Given the description of an element on the screen output the (x, y) to click on. 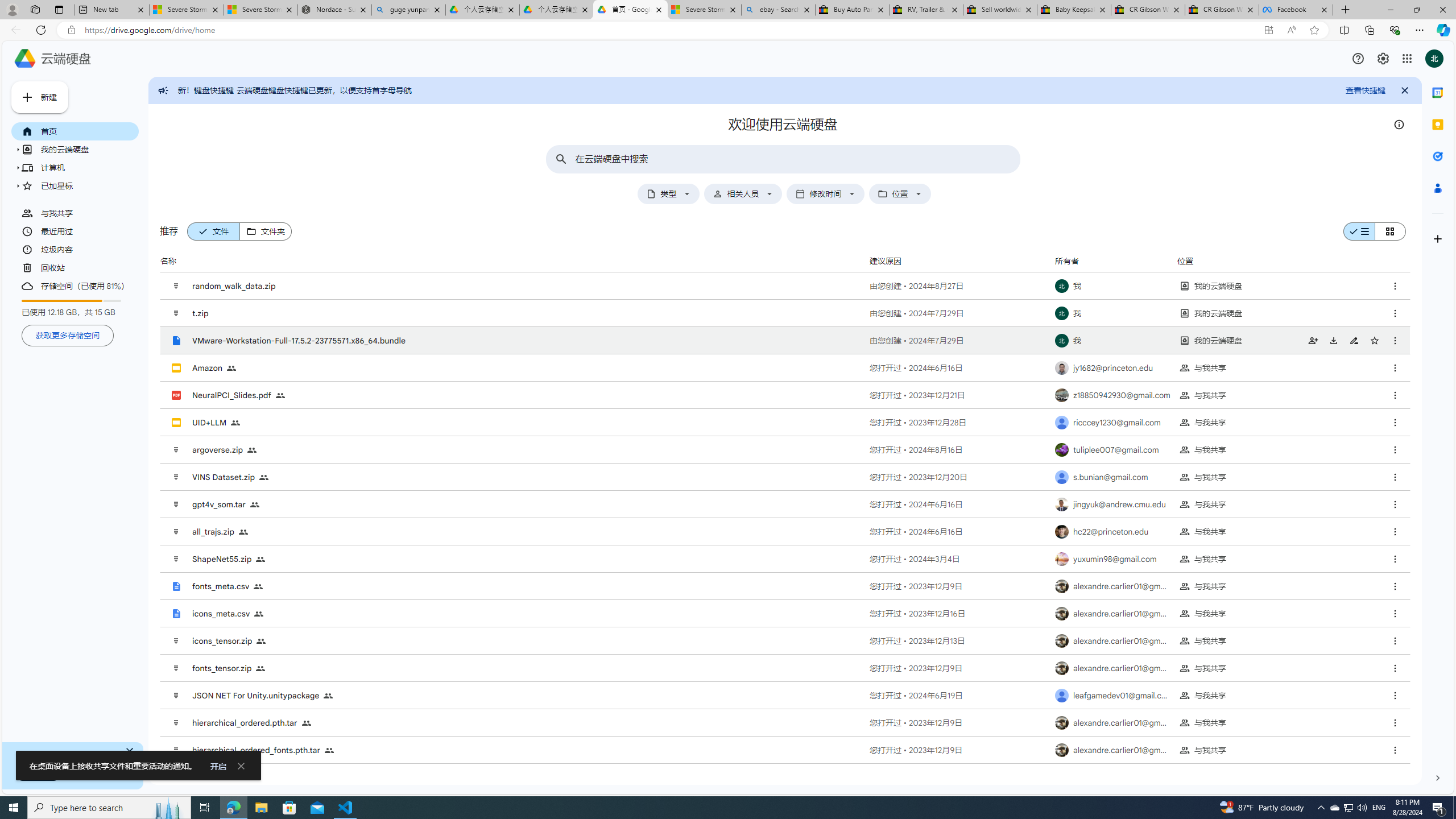
Class: HfXy2c (129, 751)
Class: c-qd a-s-fa-Ha-pa (17, 185)
Class: f8nwhd-qb23S-kBDsod f8nwhd-qb23S-b9nz9e-Rd (1385, 231)
